Given the description of an element on the screen output the (x, y) to click on. 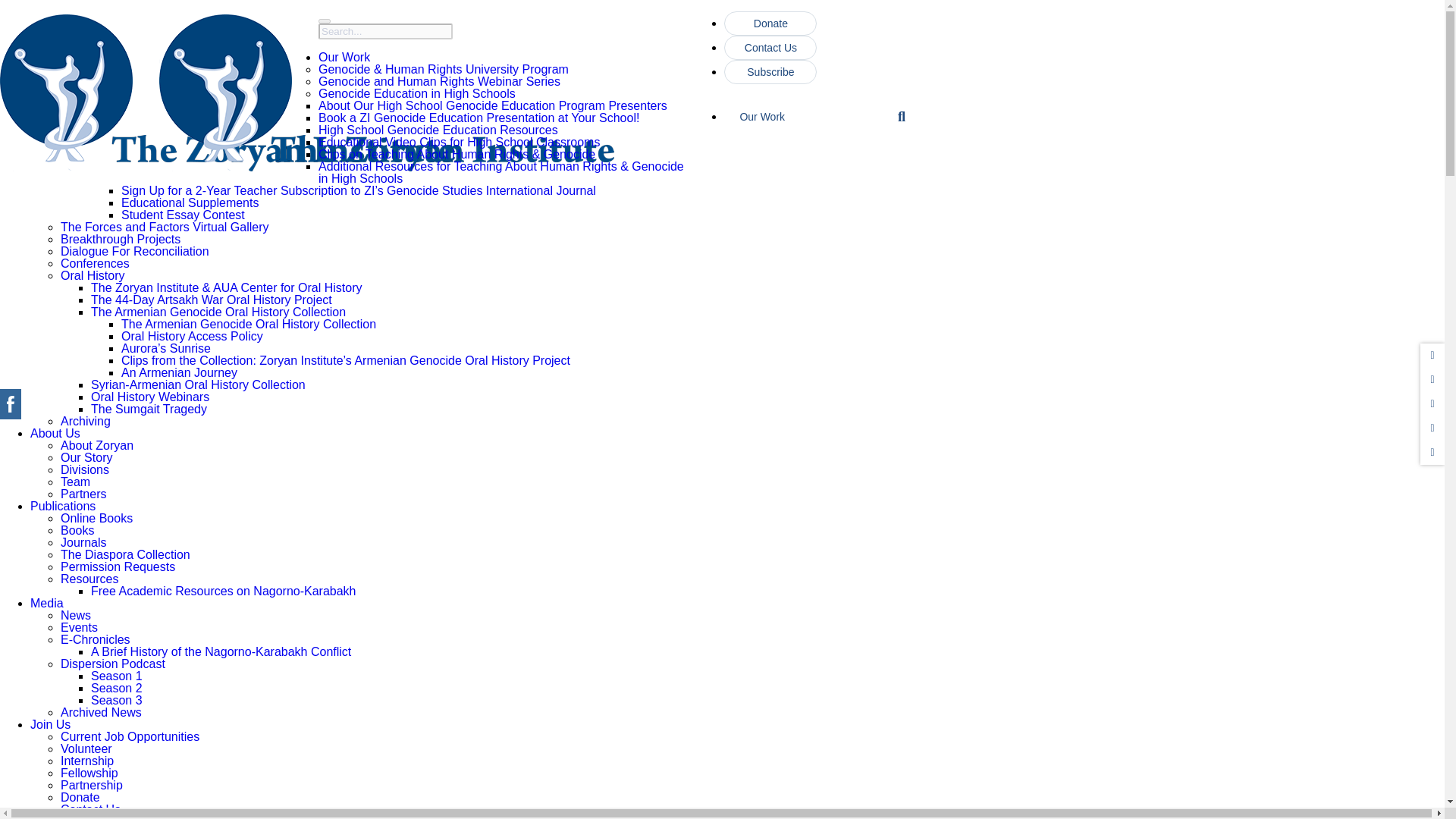
Our Work (808, 122)
Subscribe (769, 71)
Contact Us (769, 47)
Donate (769, 23)
